Given the description of an element on the screen output the (x, y) to click on. 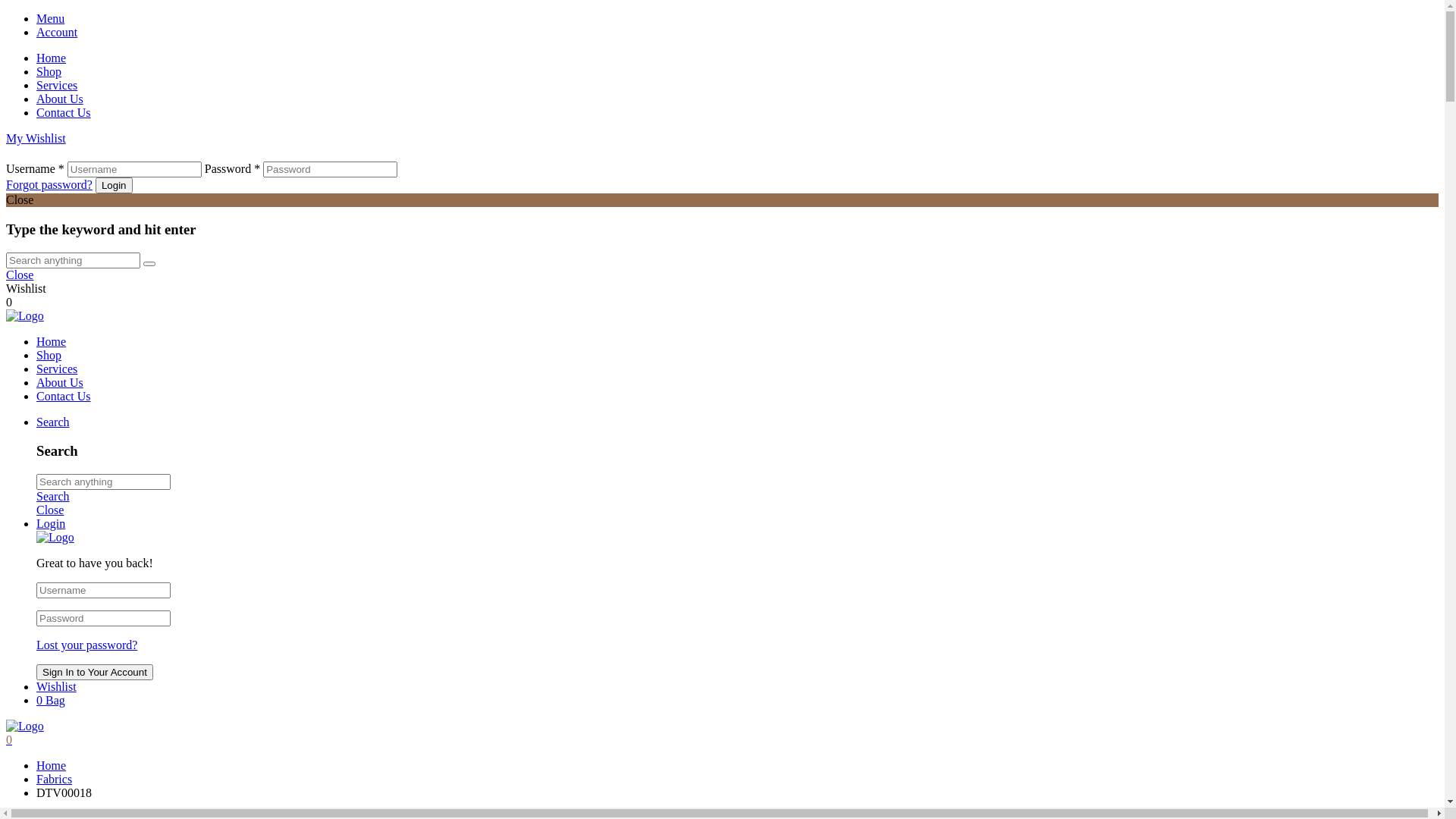
Search Element type: text (52, 421)
Shop Element type: text (48, 71)
My Wishlist Element type: text (35, 137)
Home Element type: text (50, 765)
Lost your password? Element type: text (86, 644)
Close Element type: text (49, 509)
Shop Element type: text (48, 354)
Wishlist Element type: text (56, 686)
Login Element type: text (50, 523)
Account Element type: text (737, 32)
Sign In to Your Account Element type: text (94, 672)
Home Element type: text (50, 57)
About Us Element type: text (59, 382)
0 Element type: text (9, 739)
About Us Element type: text (59, 98)
Home Element type: text (50, 341)
Menu Element type: text (737, 18)
Forgot password? Element type: text (49, 184)
Fabrics Element type: text (54, 778)
Services Element type: text (56, 368)
Search Element type: text (52, 495)
Contact Us Element type: text (63, 395)
Close Element type: text (19, 274)
Services Element type: text (56, 84)
Contact Us Element type: text (63, 112)
0 Bag Element type: text (50, 699)
